Given the description of an element on the screen output the (x, y) to click on. 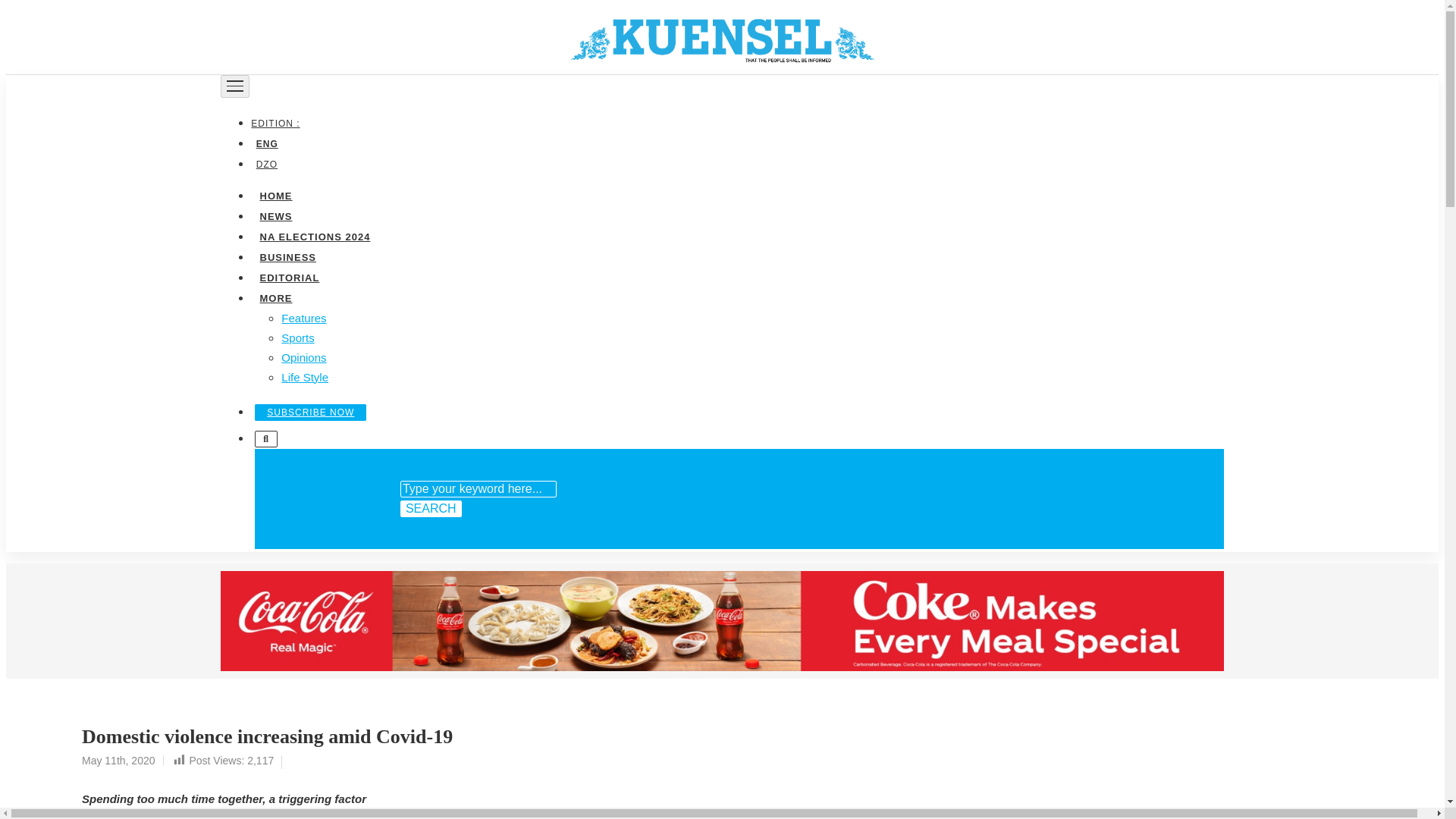
EDITORIAL (288, 276)
MORE (274, 297)
EDITION : (277, 122)
Opinions (303, 356)
ENG (266, 143)
NEWS (274, 215)
Features (303, 317)
HOME (274, 194)
NA ELECTIONS 2024 (314, 235)
Life Style (305, 376)
DZO (266, 163)
SEARCH (430, 508)
SUBSCRIBE NOW (310, 411)
BUSINESS (287, 256)
Sports (297, 336)
